Given the description of an element on the screen output the (x, y) to click on. 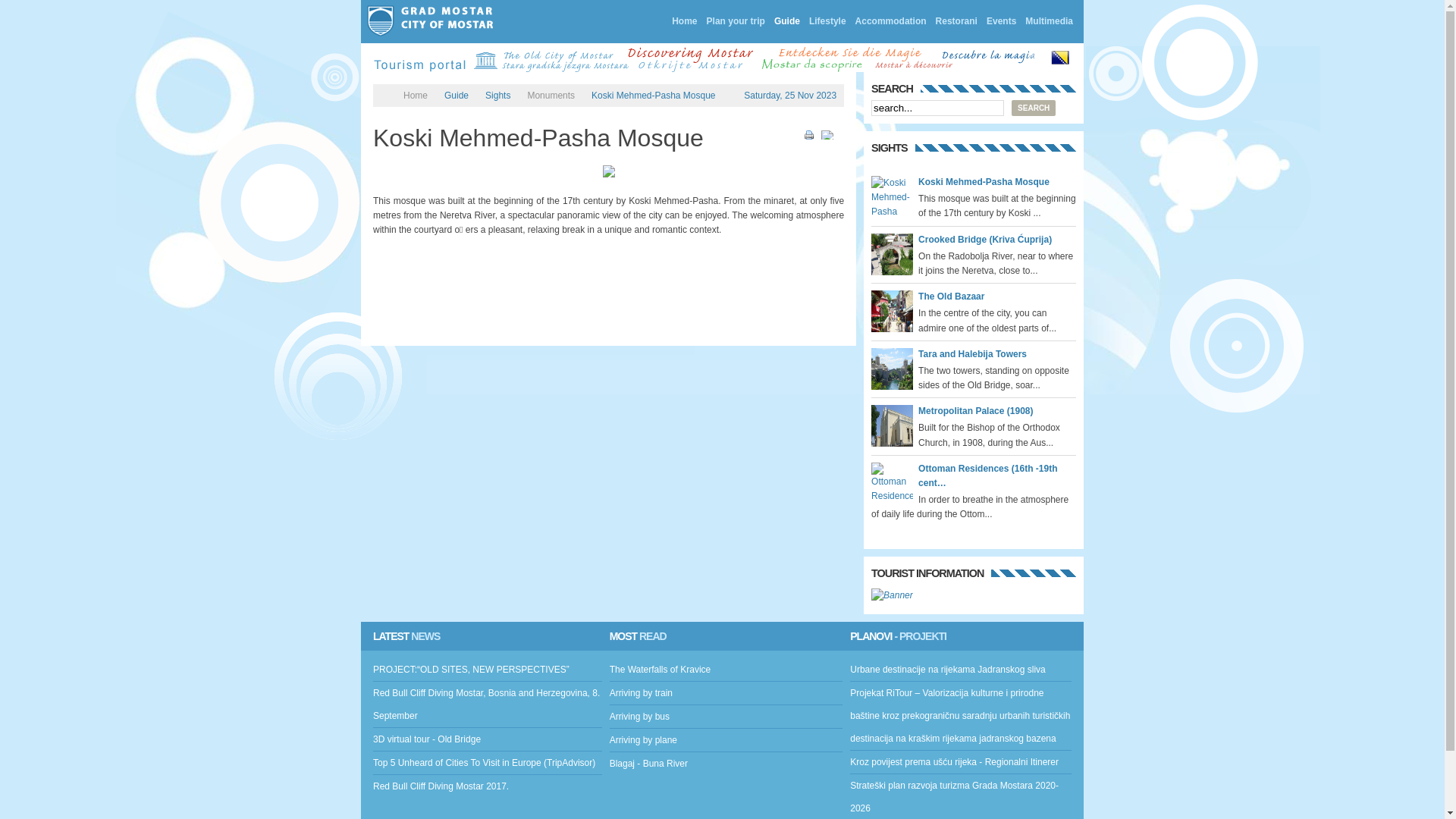
Metropolitan Palace (1908) Element type: text (975, 410)
Tara and Halebija Towers Element type: text (972, 353)
BOS-HR-SRP Element type: hover (1059, 57)
Lifestyle Element type: text (827, 21)
Search Element type: text (1033, 108)
Blagaj - Buna River Element type: text (648, 763)
Restorani Element type: text (956, 21)
Monuments Element type: text (550, 95)
Arriving by plane Element type: text (643, 739)
The Old Bazaar Element type: text (951, 296)
Accommodation Element type: text (890, 21)
Urbane destinacije na rijekama Jadranskog sliva Element type: text (947, 669)
Plan your trip Element type: text (735, 21)
Arriving by bus Element type: text (639, 716)
Multimedia Element type: text (1048, 21)
Events Element type: text (1001, 21)
Guide Element type: text (786, 21)
Home Element type: text (415, 95)
Home Element type: text (684, 21)
Red Bull Cliff Diving Mostar 2017. Element type: text (440, 786)
Arriving by train Element type: text (640, 692)
Top 5 Unheard of Cities To Visit in Europe (TripAdvisor) Element type: text (484, 762)
Koski Mehmed-Pasha Mosque Element type: text (983, 181)
3D virtual tour - Old Bridge Element type: text (426, 739)
The Waterfalls of Kravice Element type: text (660, 669)
